Given the description of an element on the screen output the (x, y) to click on. 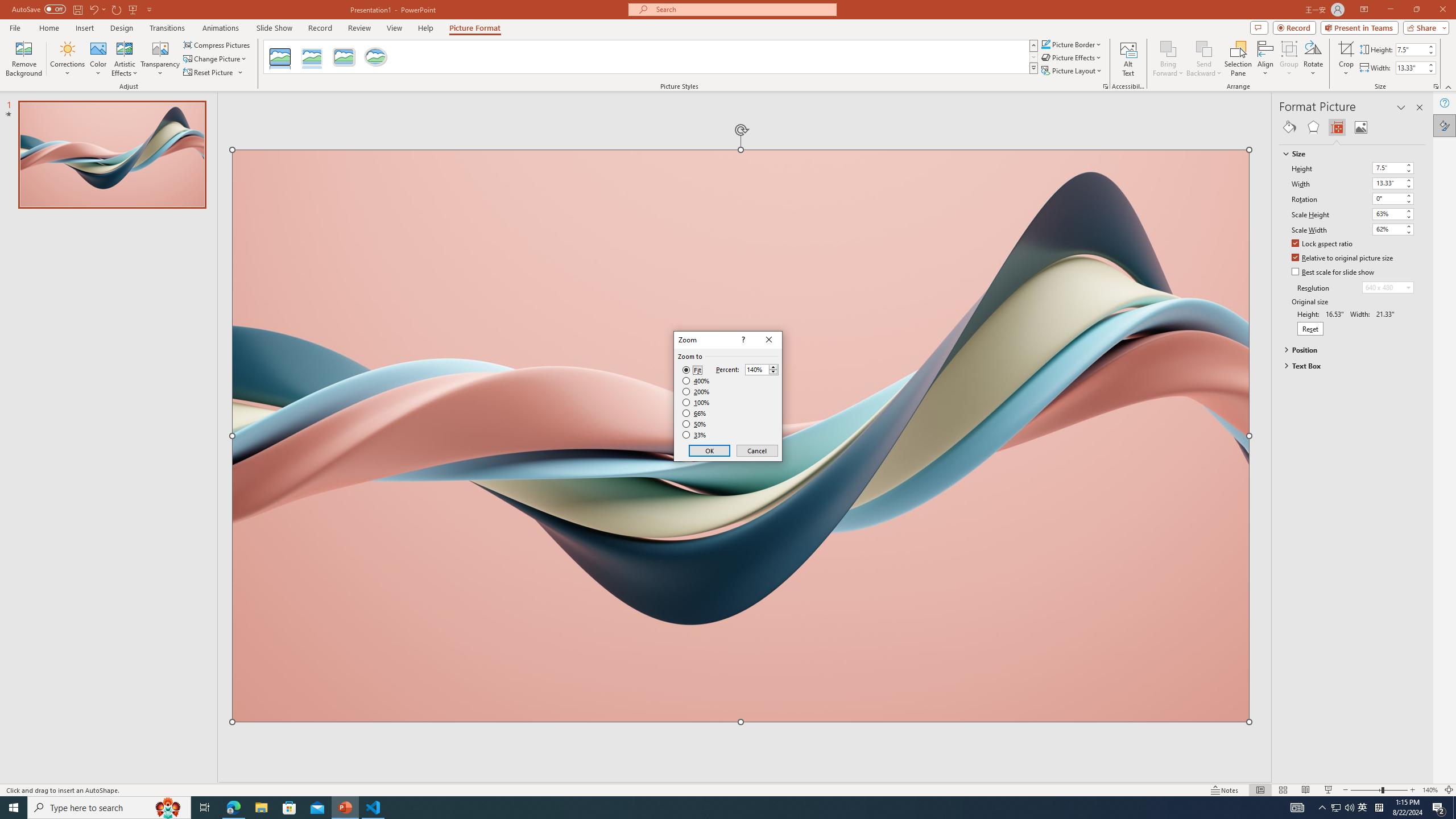
Reset Picture (208, 72)
Compress Pictures... (217, 44)
Picture Layout (1072, 69)
Corrections (67, 58)
Lock aspect ratio (1322, 244)
Bring Forward (1168, 58)
